Given the description of an element on the screen output the (x, y) to click on. 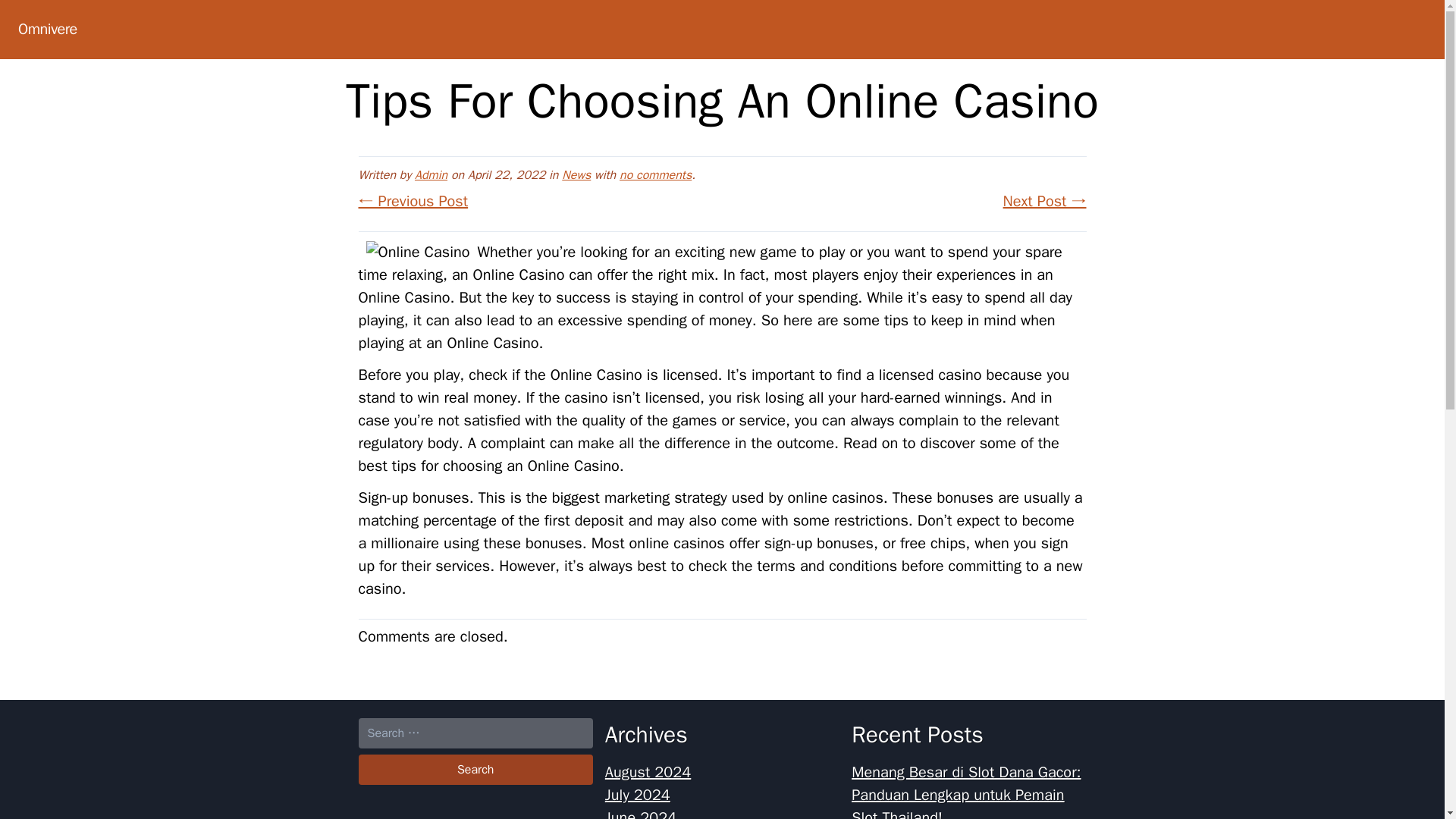
no comments (655, 174)
August 2024 (648, 772)
July 2024 (637, 794)
no comments (655, 174)
News (576, 174)
Search (475, 769)
Search (475, 769)
Omnivere (47, 29)
Search (475, 769)
June 2024 (641, 813)
Admin (430, 174)
